Given the description of an element on the screen output the (x, y) to click on. 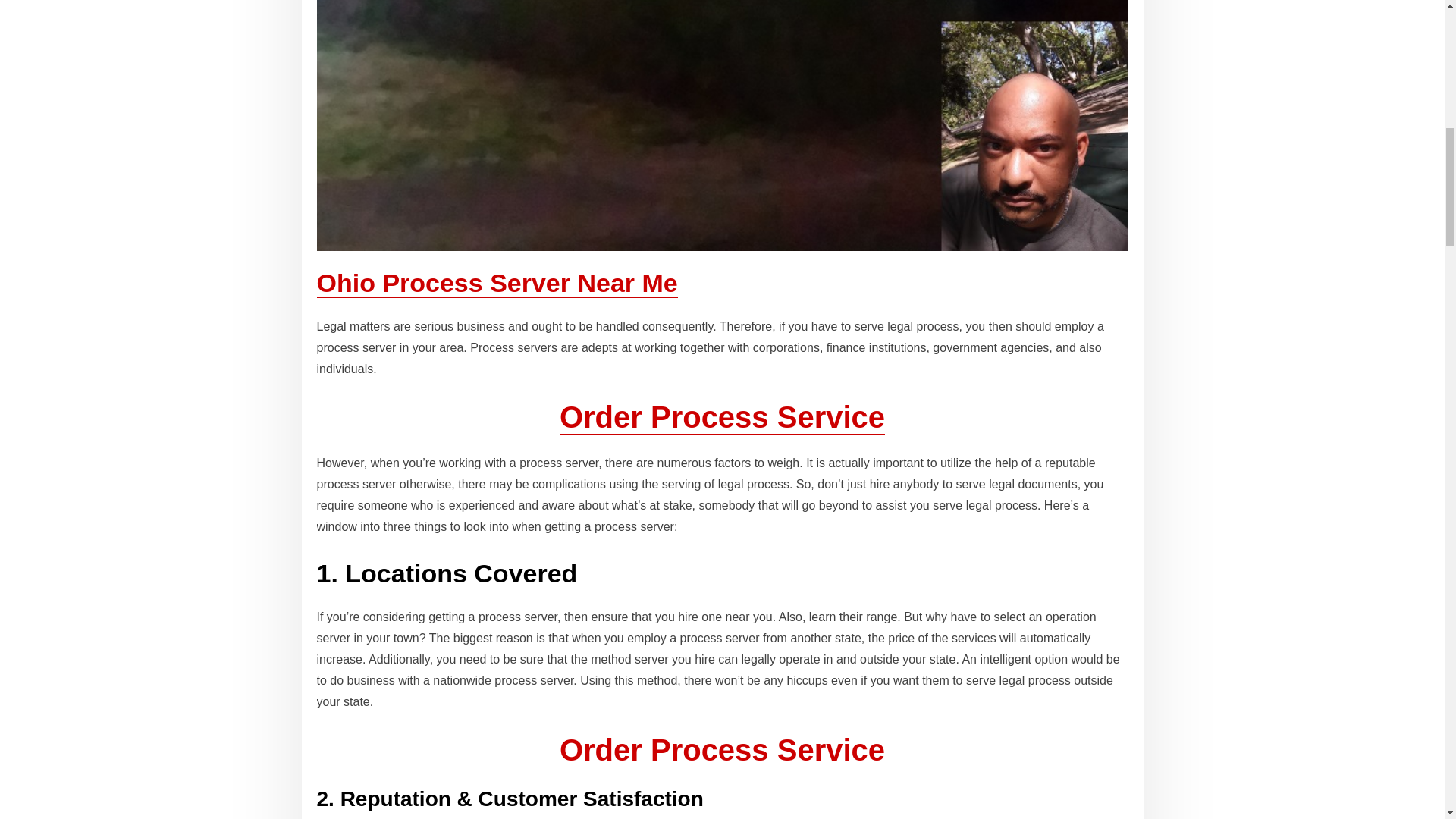
Order Process Service (722, 749)
Ohio Process Server Near Me (497, 282)
Order Process Service (722, 417)
